Given the description of an element on the screen output the (x, y) to click on. 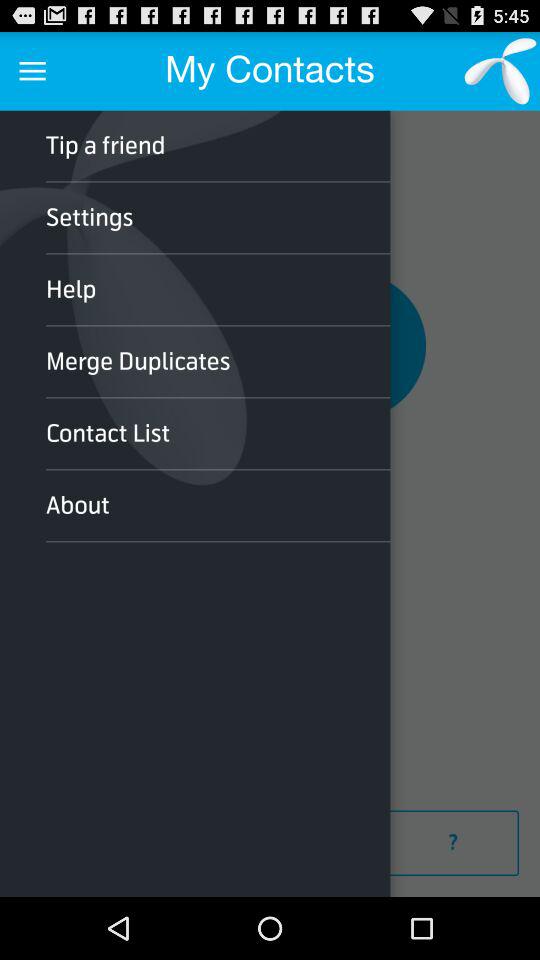
go to  (453, 843)
